Given the description of an element on the screen output the (x, y) to click on. 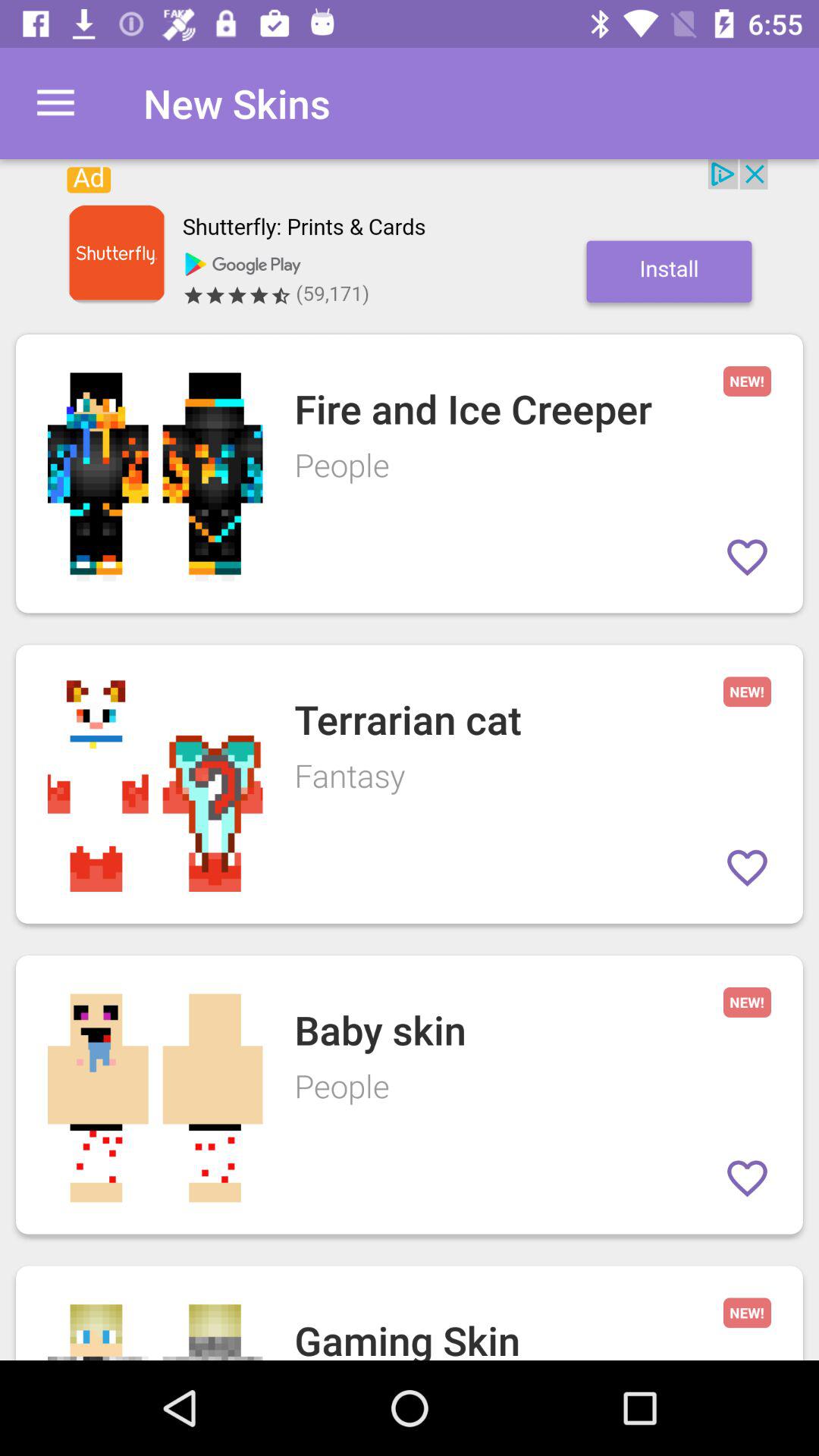
install an app (409, 238)
